Given the description of an element on the screen output the (x, y) to click on. 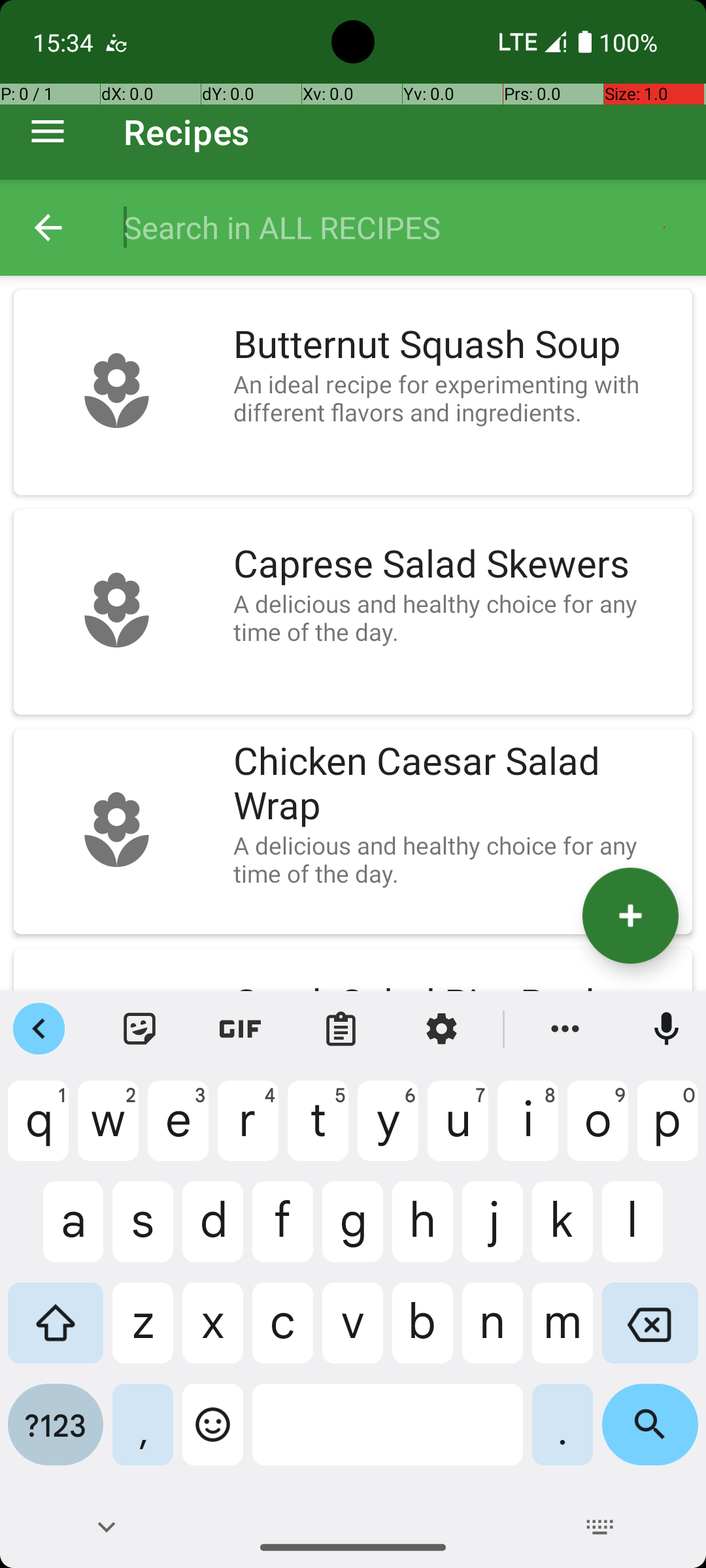
Search in ALL RECIPES Element type: android.widget.AutoCompleteTextView (400, 227)
